Given the description of an element on the screen output the (x, y) to click on. 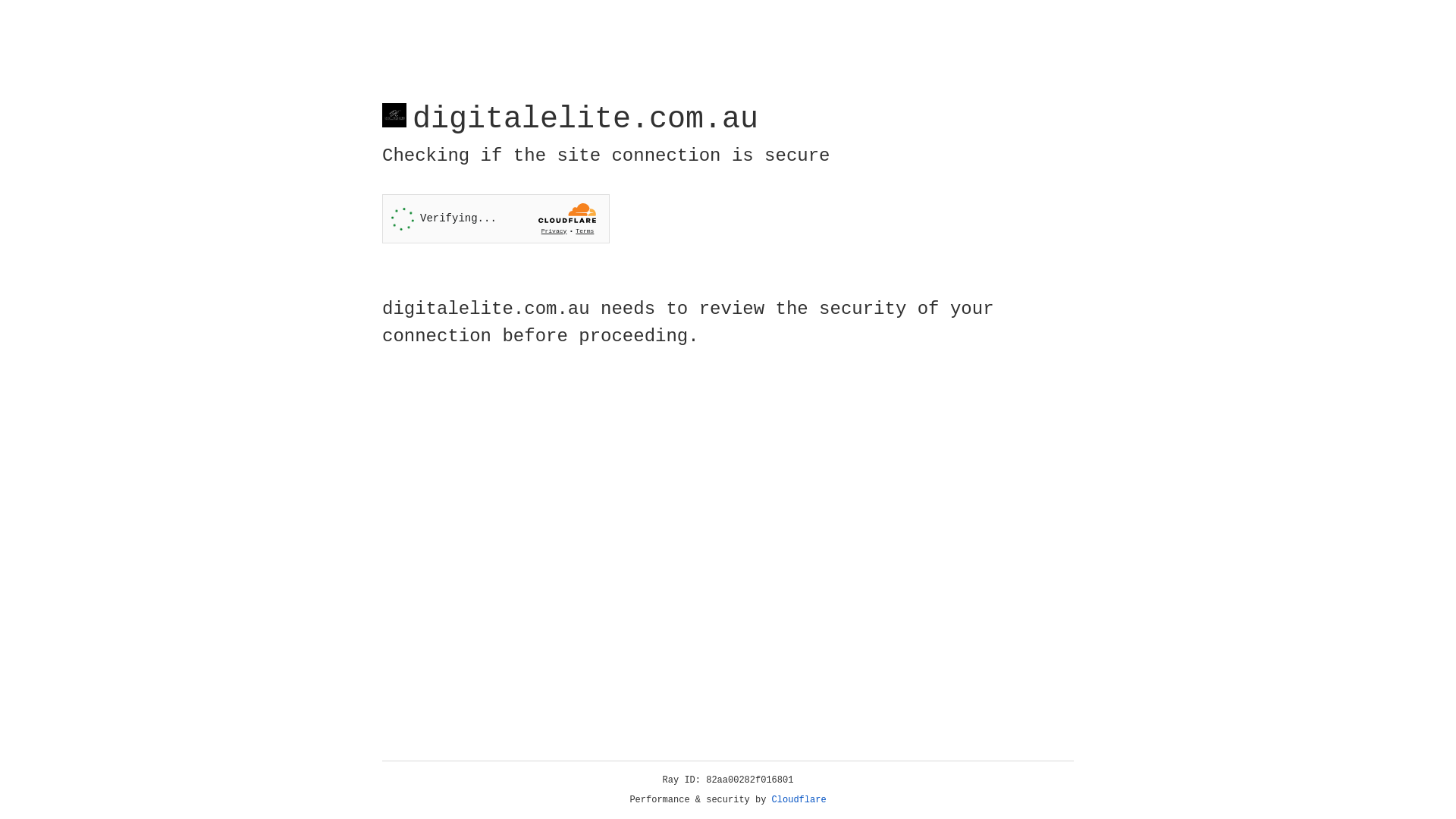
Widget containing a Cloudflare security challenge Element type: hover (495, 218)
Cloudflare Element type: text (798, 799)
